Given the description of an element on the screen output the (x, y) to click on. 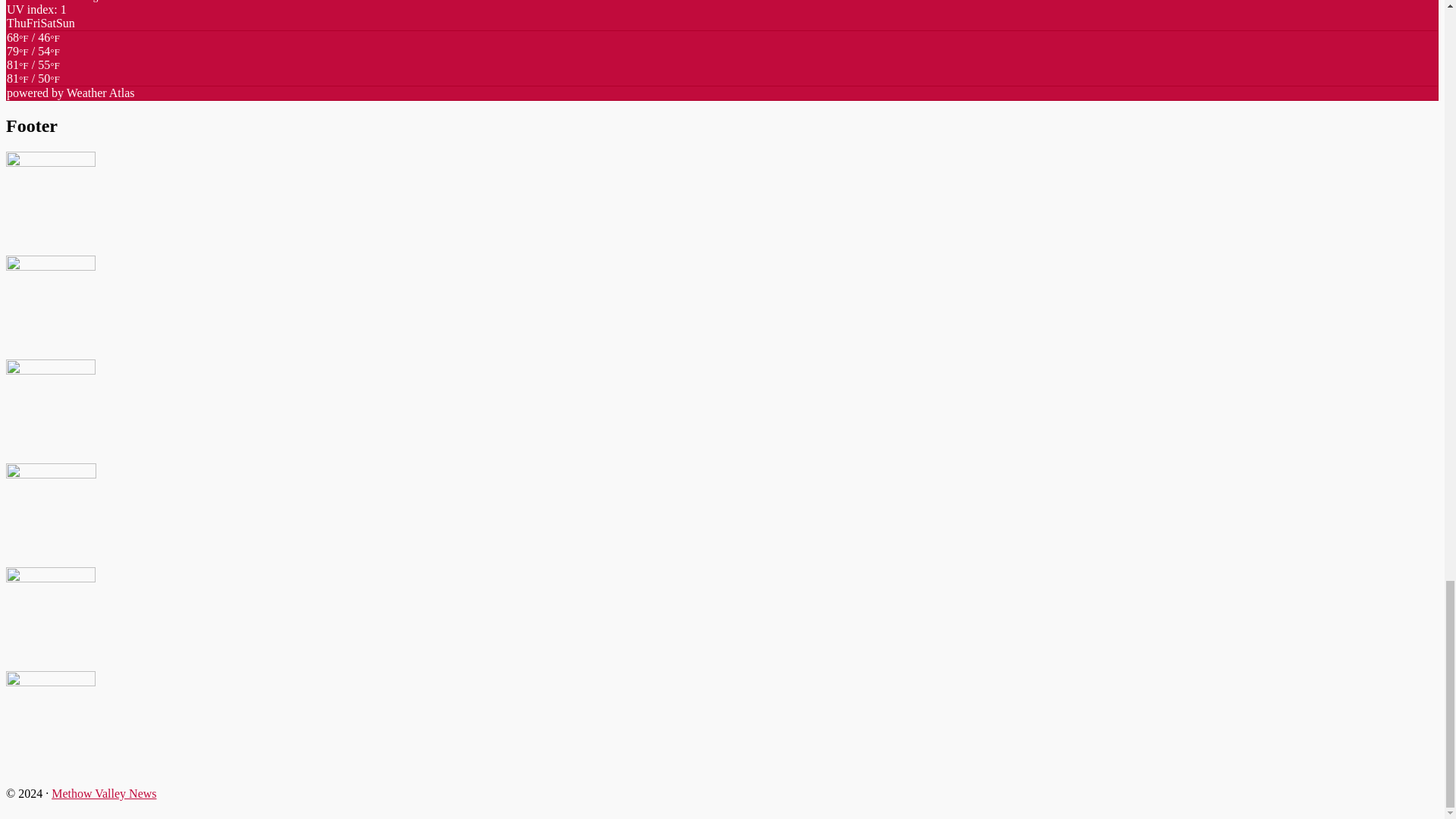
Partly Cloudy (33, 78)
Mostly Cloudy (33, 44)
Mostly Sunny (33, 58)
Mostly Cloudy (33, 71)
